Given the description of an element on the screen output the (x, y) to click on. 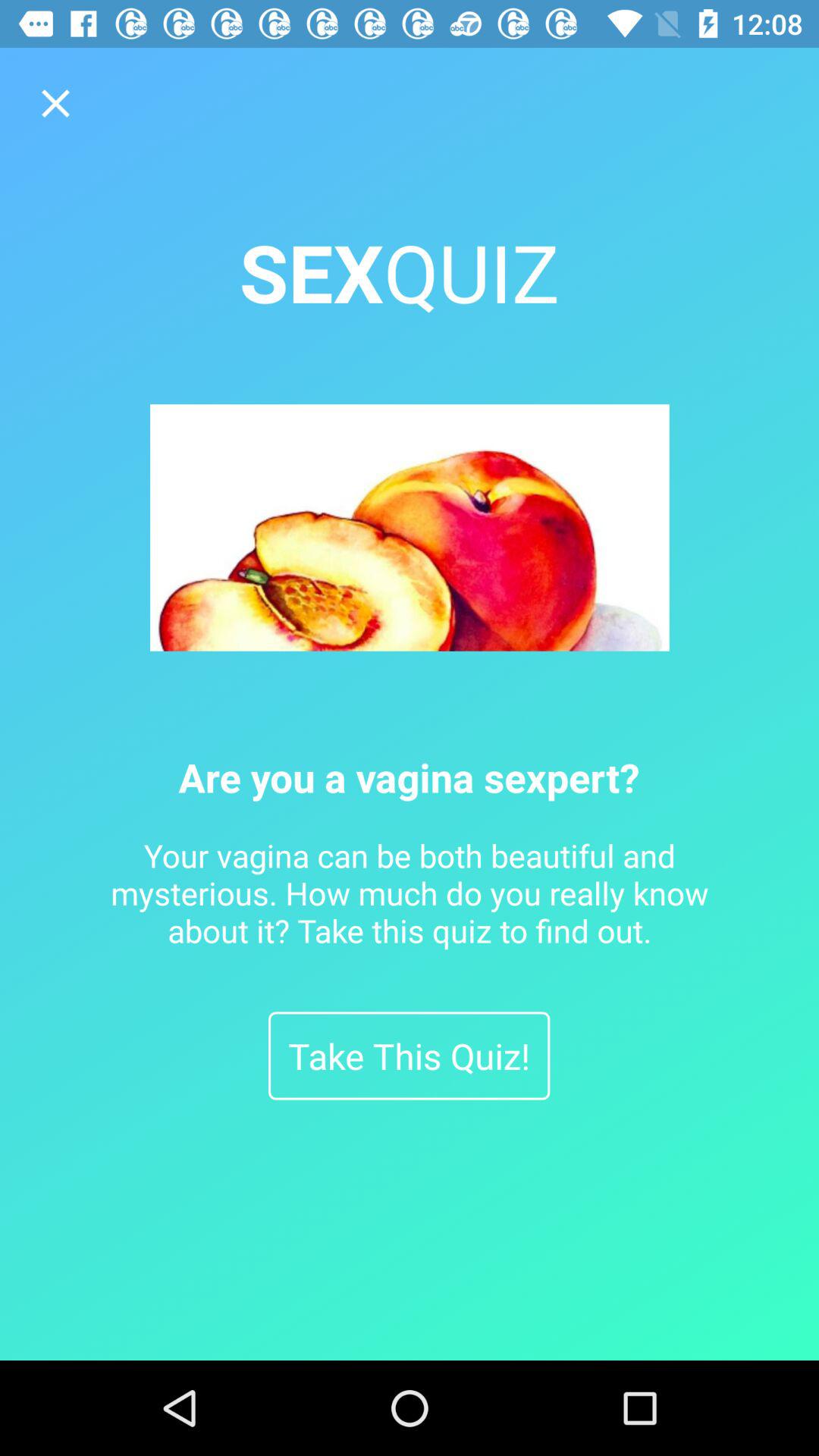
press the icon at the top left corner (55, 103)
